Given the description of an element on the screen output the (x, y) to click on. 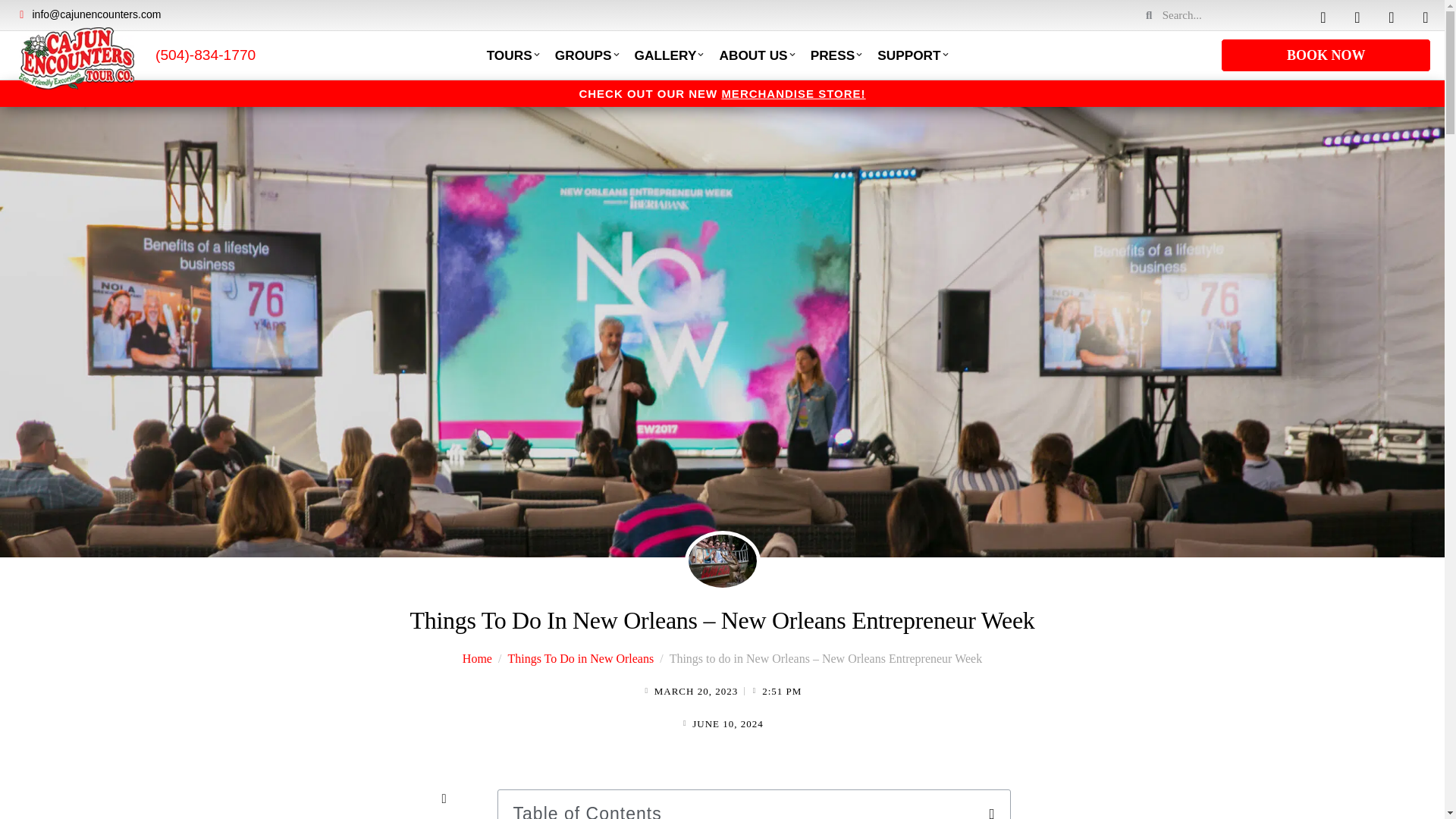
ABOUT US (756, 55)
TOURS (513, 55)
PRESS (836, 55)
GALLERY (669, 55)
GROUPS (587, 55)
SUPPORT (912, 55)
